Given the description of an element on the screen output the (x, y) to click on. 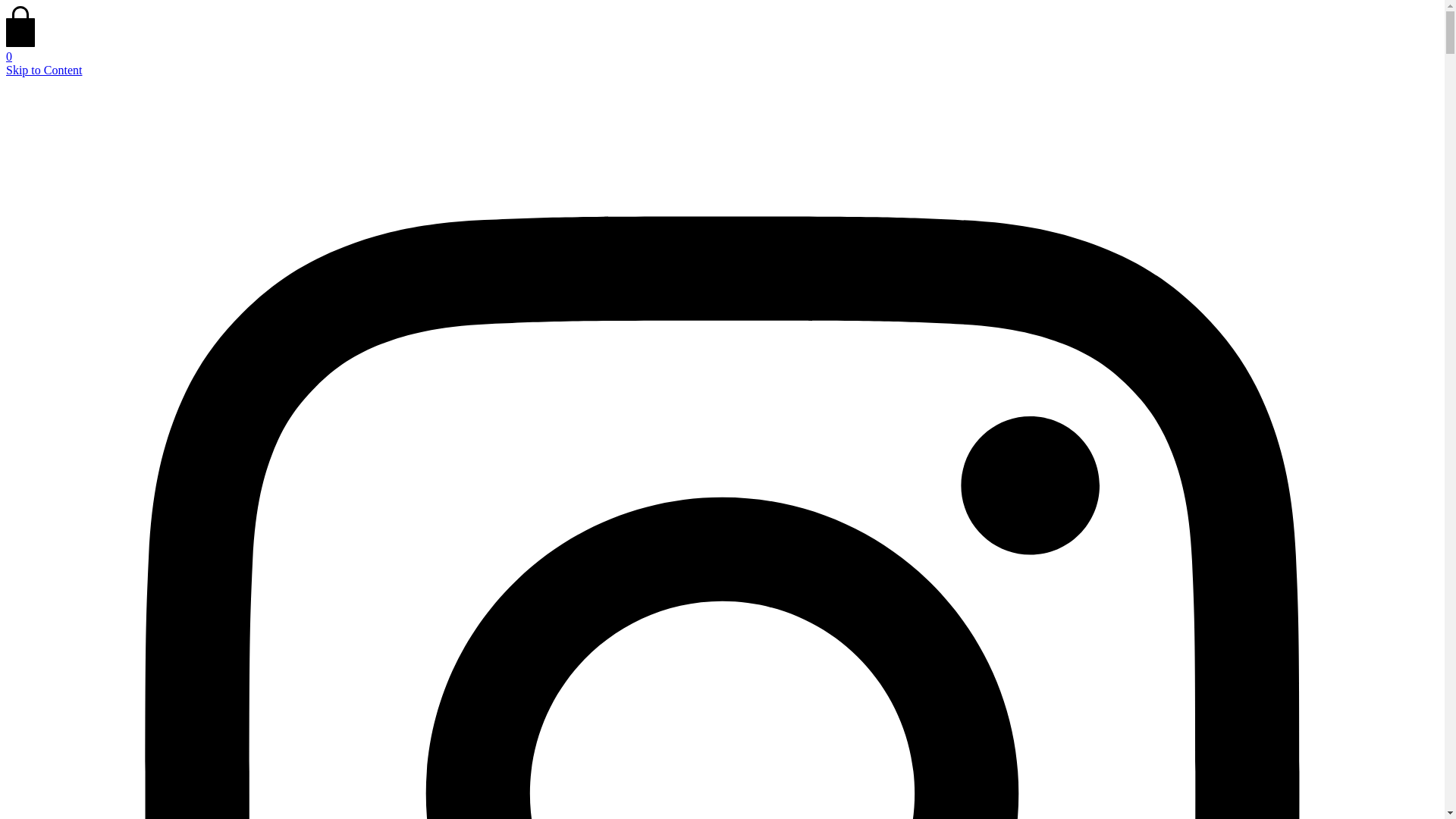
Skip to Content (43, 69)
